Given the description of an element on the screen output the (x, y) to click on. 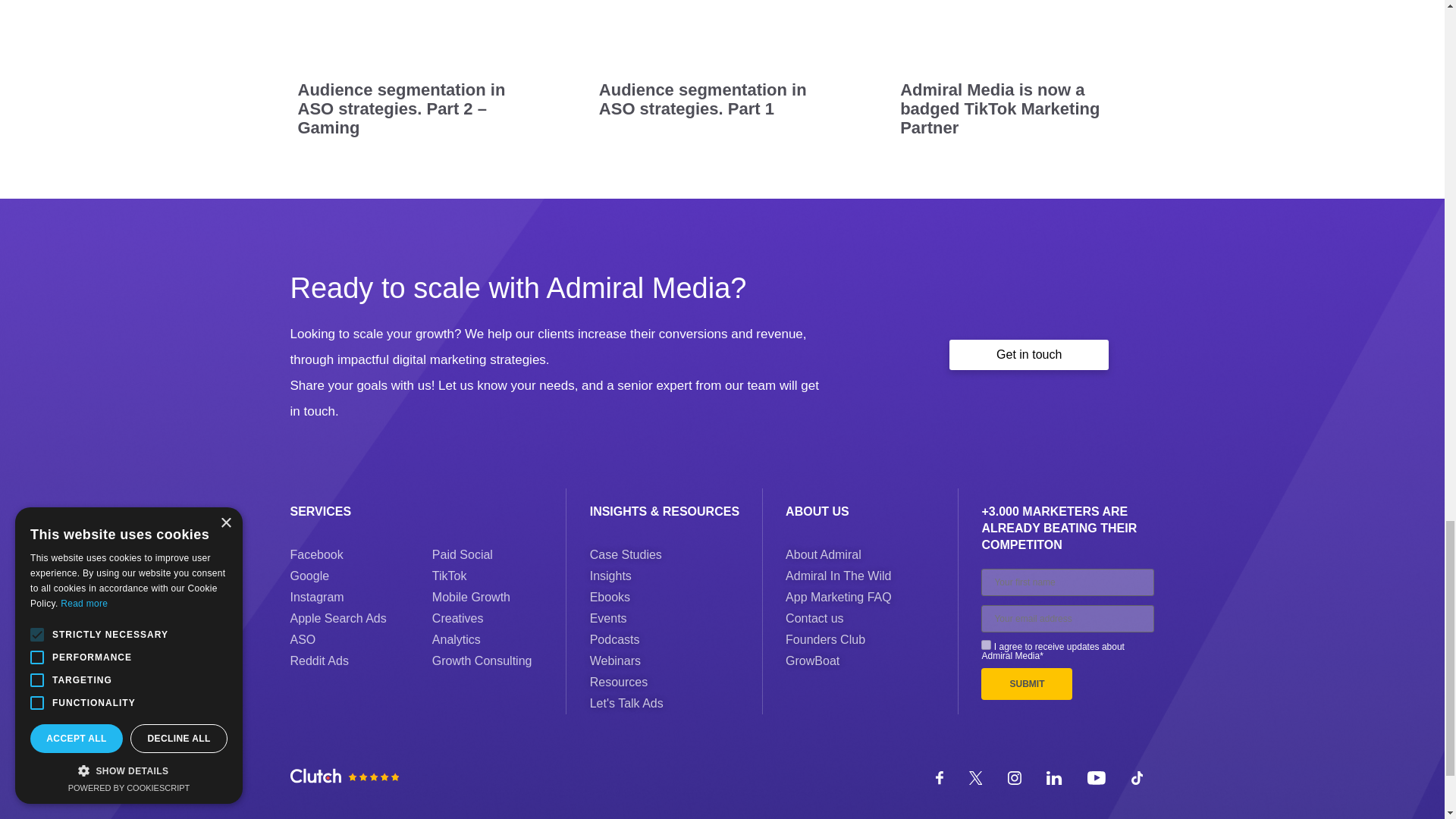
1 (986, 644)
submit (1026, 684)
